Given the description of an element on the screen output the (x, y) to click on. 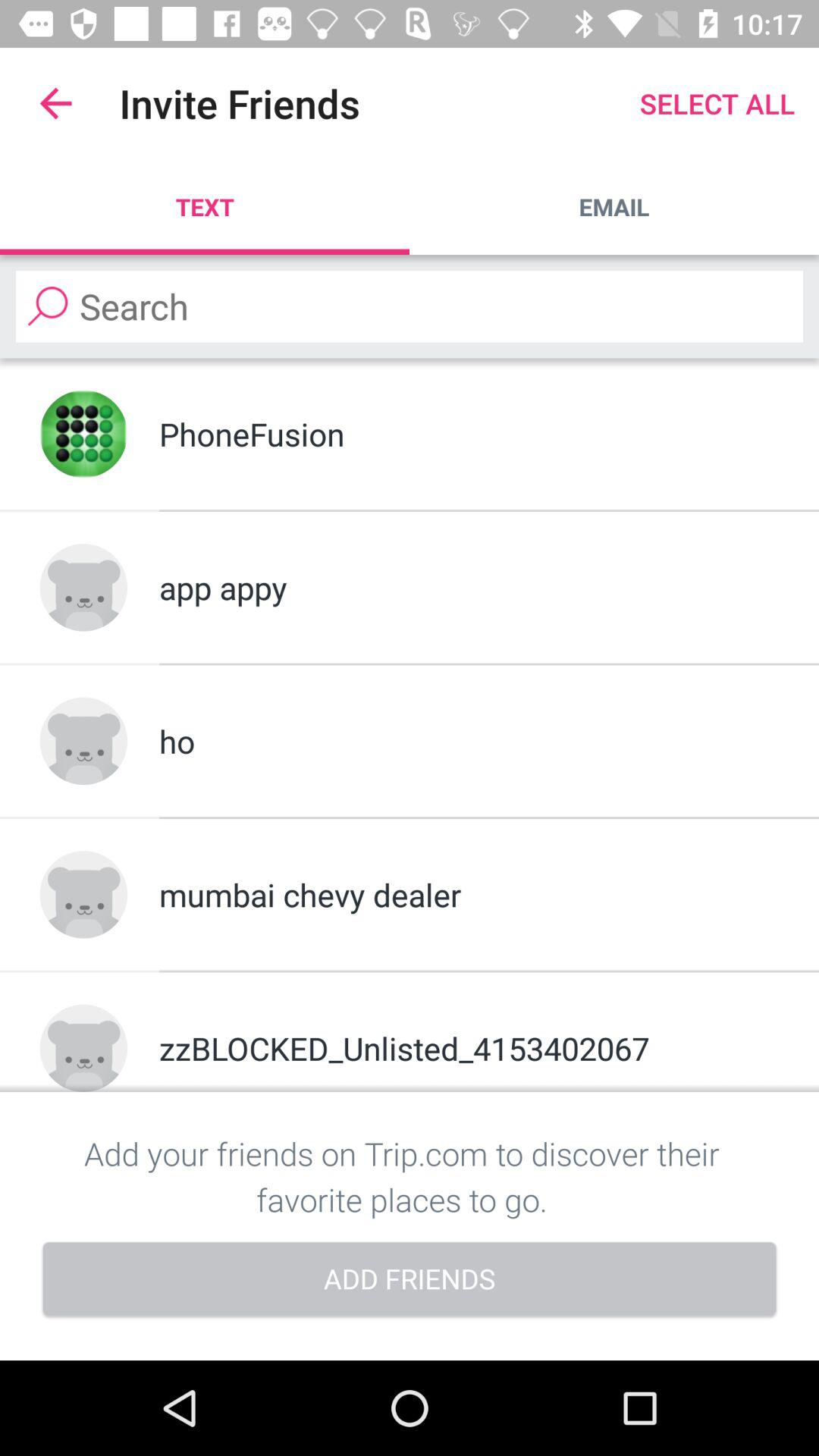
turn off icon above zzblocked_unlisted_4153402067 (469, 894)
